Given the description of an element on the screen output the (x, y) to click on. 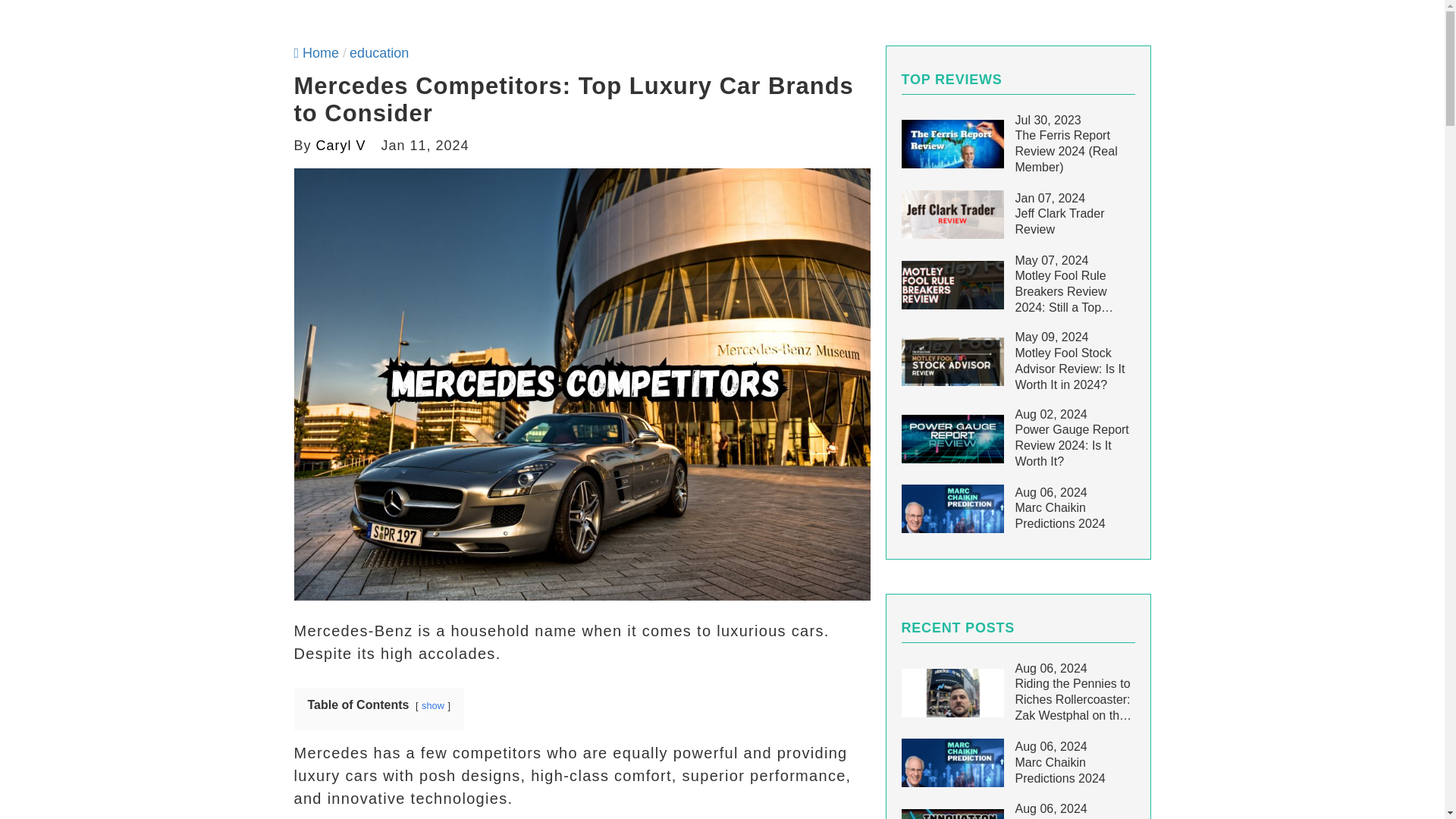
Caryl V (340, 145)
Home (316, 52)
education (379, 52)
show (433, 705)
Category Name (379, 52)
